Given the description of an element on the screen output the (x, y) to click on. 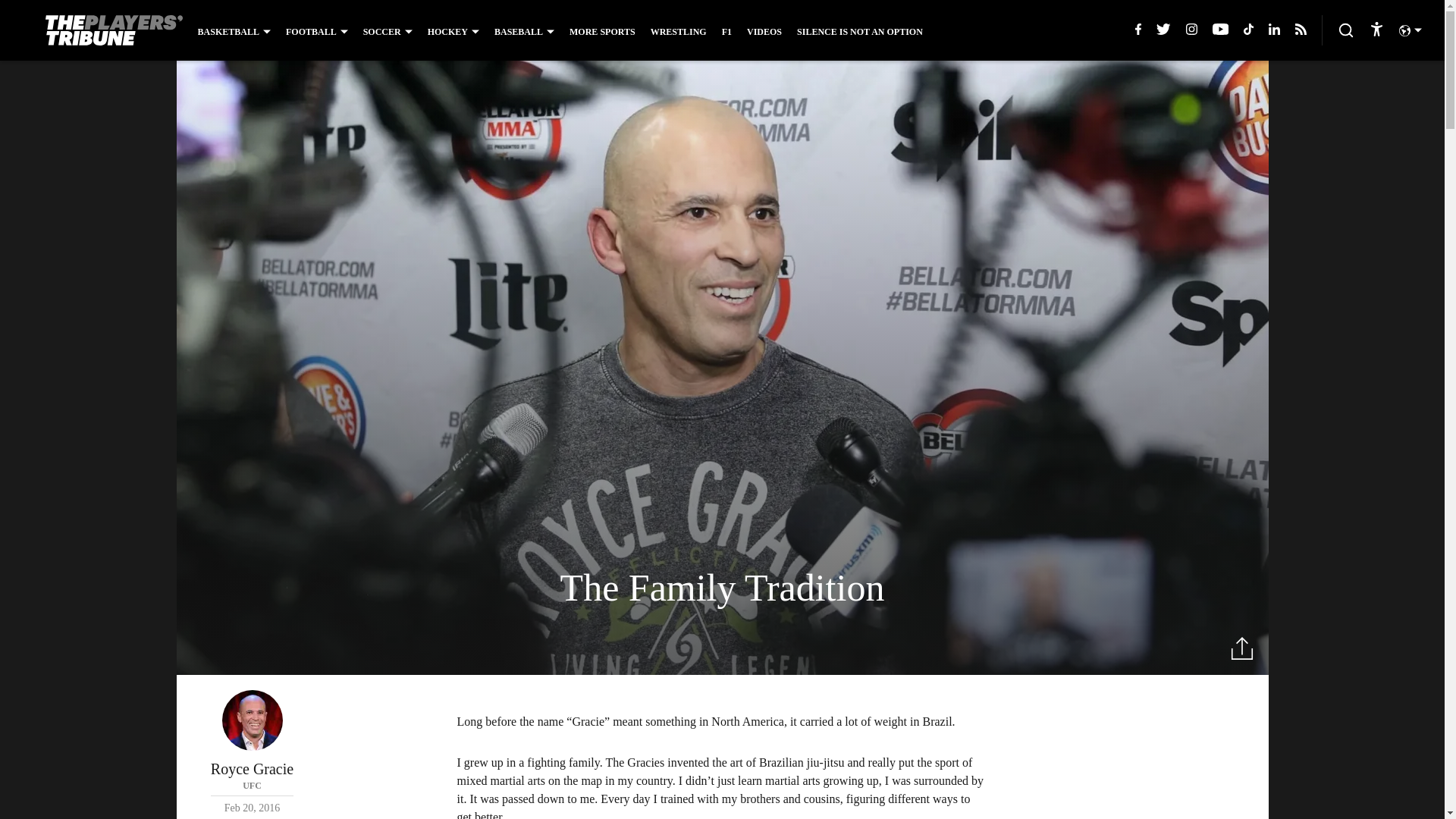
VIDEOS (251, 752)
MORE SPORTS (763, 31)
WRESTLING (601, 31)
Royce Gracie (678, 31)
SILENCE IS NOT AN OPTION (251, 720)
